Given the description of an element on the screen output the (x, y) to click on. 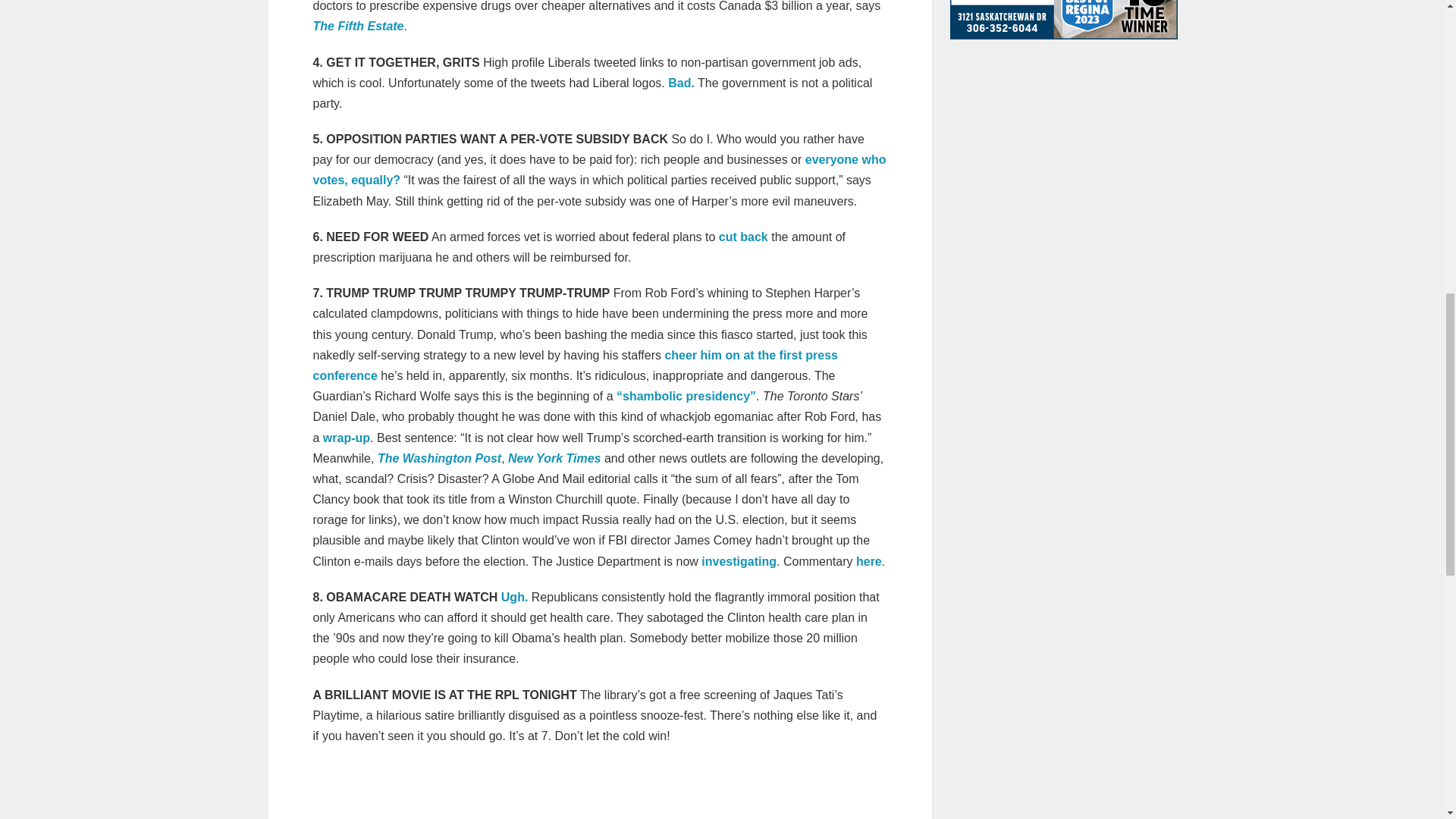
PlayTime official reissue trailer 2014 (599, 790)
cheer him on at the first press conference (575, 365)
everyone who votes, equally? (599, 169)
cut back (743, 236)
The Fifth Estate (358, 25)
Bad. (681, 82)
